Given the description of an element on the screen output the (x, y) to click on. 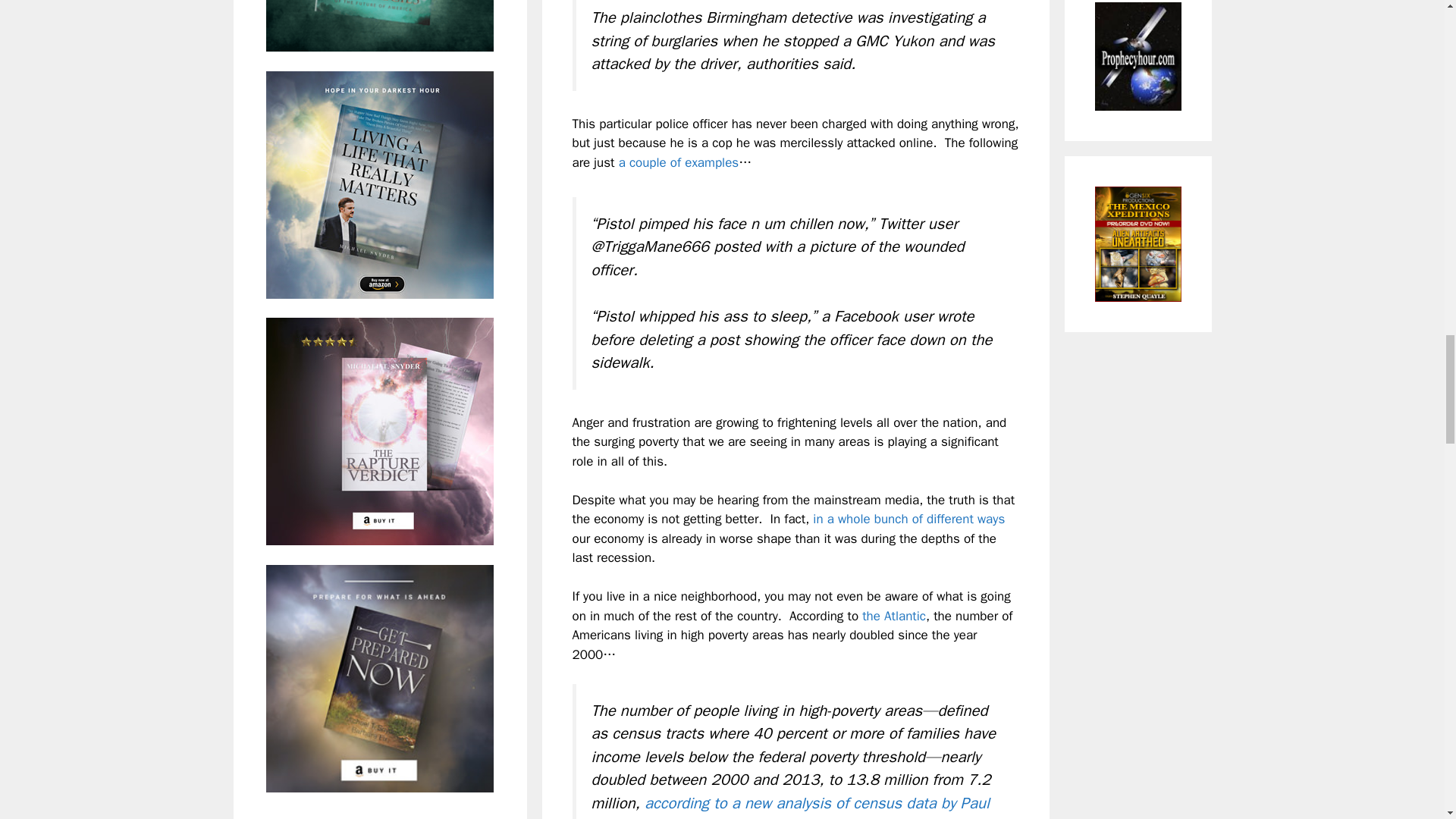
according to a new analysis of census data by Paul Jargowsky (790, 806)
in a whole bunch of different ways (908, 519)
the Atlantic (893, 616)
a couple of examples (678, 162)
in a whole bunch of different ways (908, 519)
the Atlantic (893, 616)
according to a new analysis of census data by Paul Jargowsky (790, 806)
a couple of examples (678, 162)
